Given the description of an element on the screen output the (x, y) to click on. 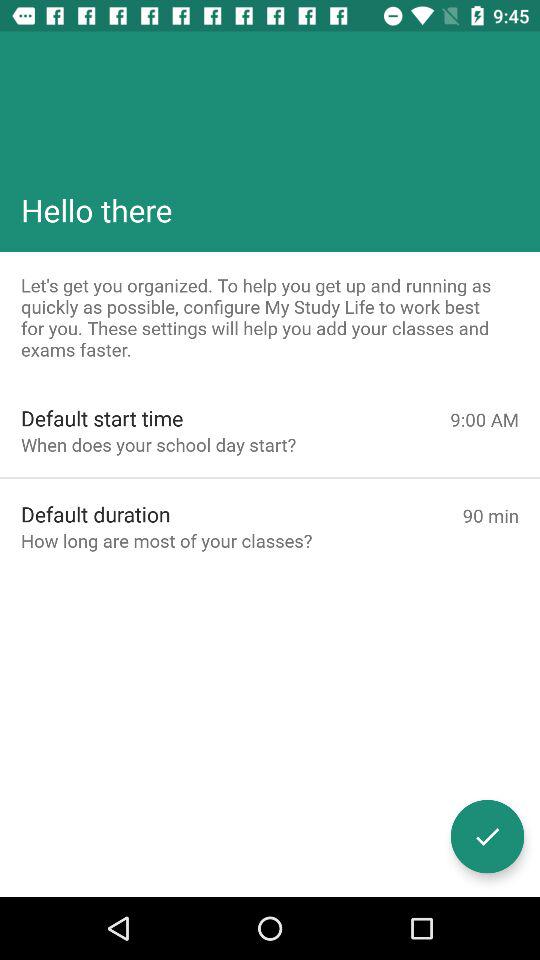
tap icon below the 90 min (487, 836)
